Given the description of an element on the screen output the (x, y) to click on. 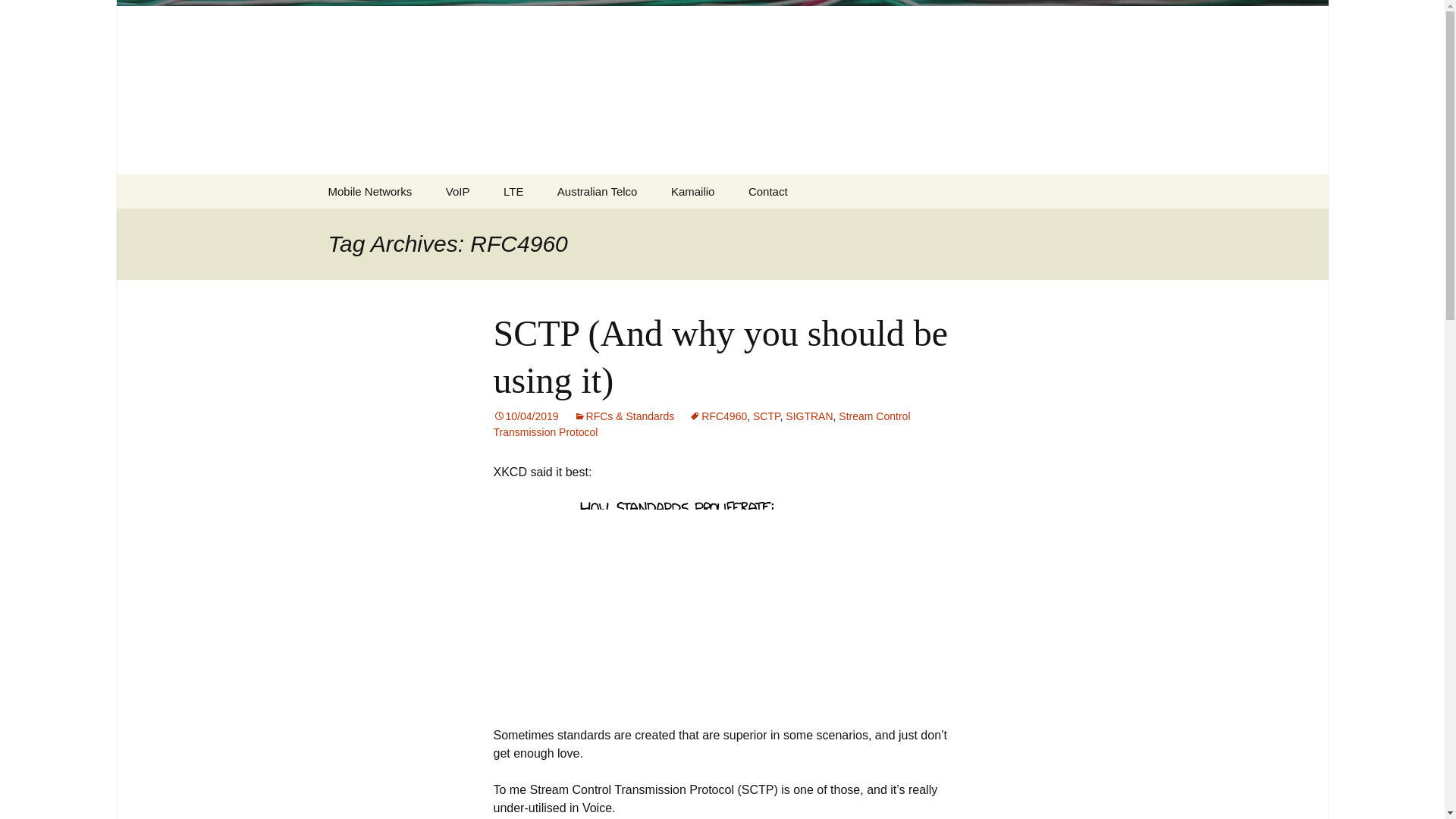
VoIP (457, 191)
Mobile Networks (369, 191)
Stream Control Transmission Protocol (701, 424)
SCTP (766, 416)
Contact (768, 191)
Search (18, 15)
SIGTRAN (809, 416)
RFC4960 (717, 416)
LTE (693, 191)
Australian Telco (512, 191)
